Given the description of an element on the screen output the (x, y) to click on. 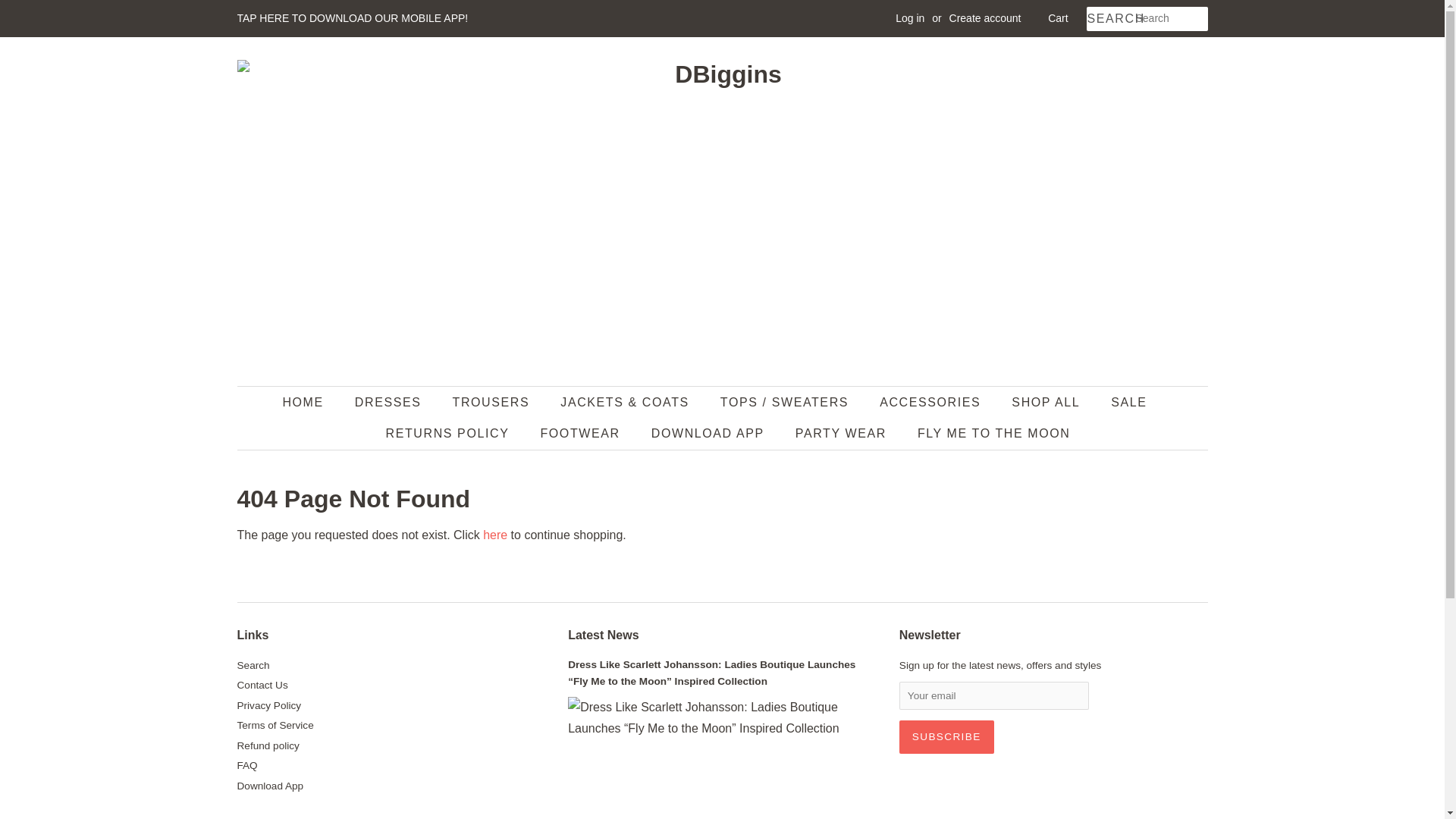
FOOTWEAR (581, 432)
Subscribe (946, 736)
Create account (985, 18)
TROUSERS (492, 401)
TAP HERE TO DOWNLOAD OUR MOBILE APP! (351, 18)
Log in (909, 18)
PARTY WEAR (842, 432)
DOWNLOAD APP (709, 432)
SALE (1130, 401)
HOME (309, 401)
